Given the description of an element on the screen output the (x, y) to click on. 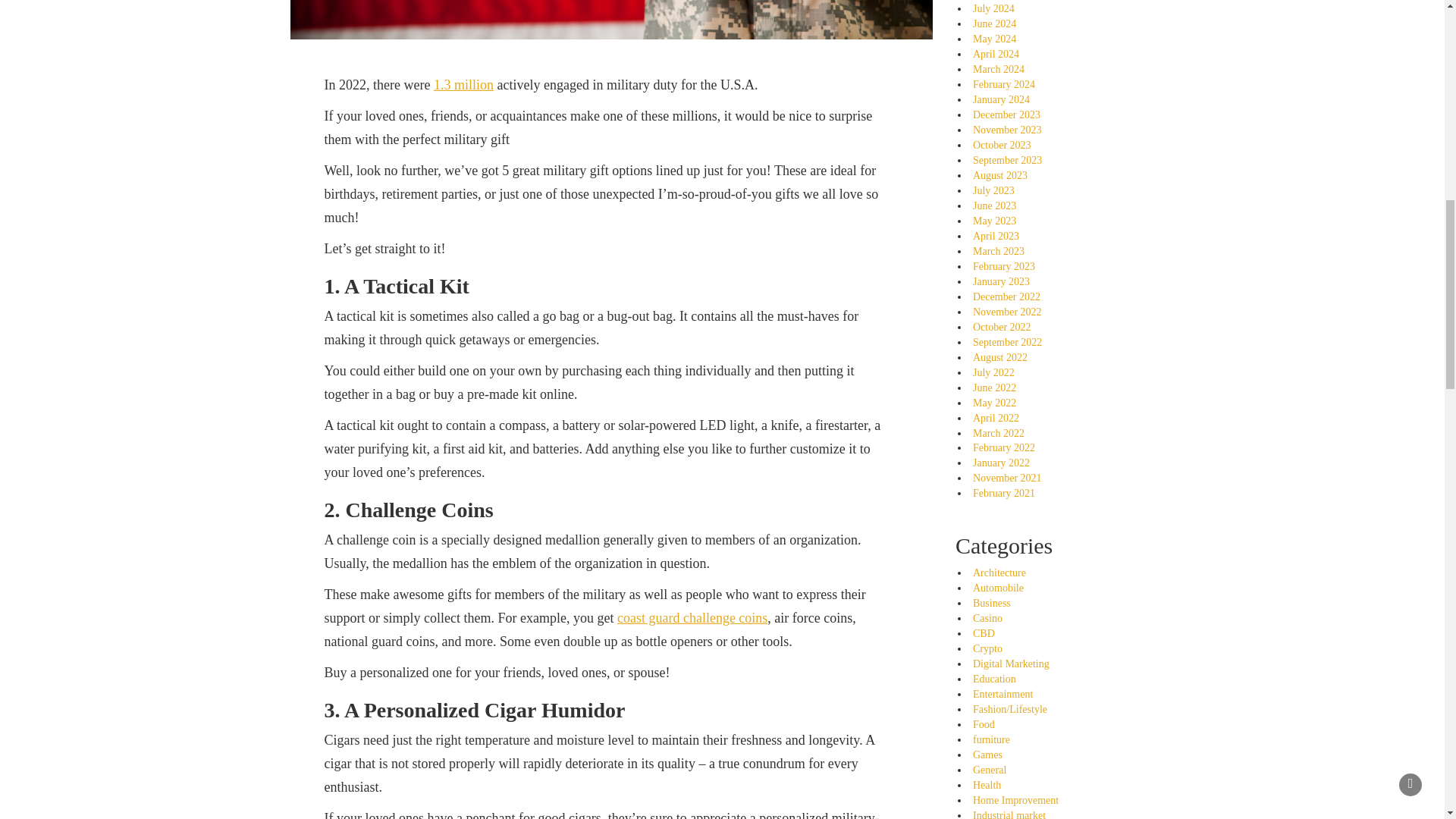
5 Unique Military Gift Ideas for You to Consider (611, 19)
coast guard challenge coins (692, 617)
1.3 million (463, 84)
